Given the description of an element on the screen output the (x, y) to click on. 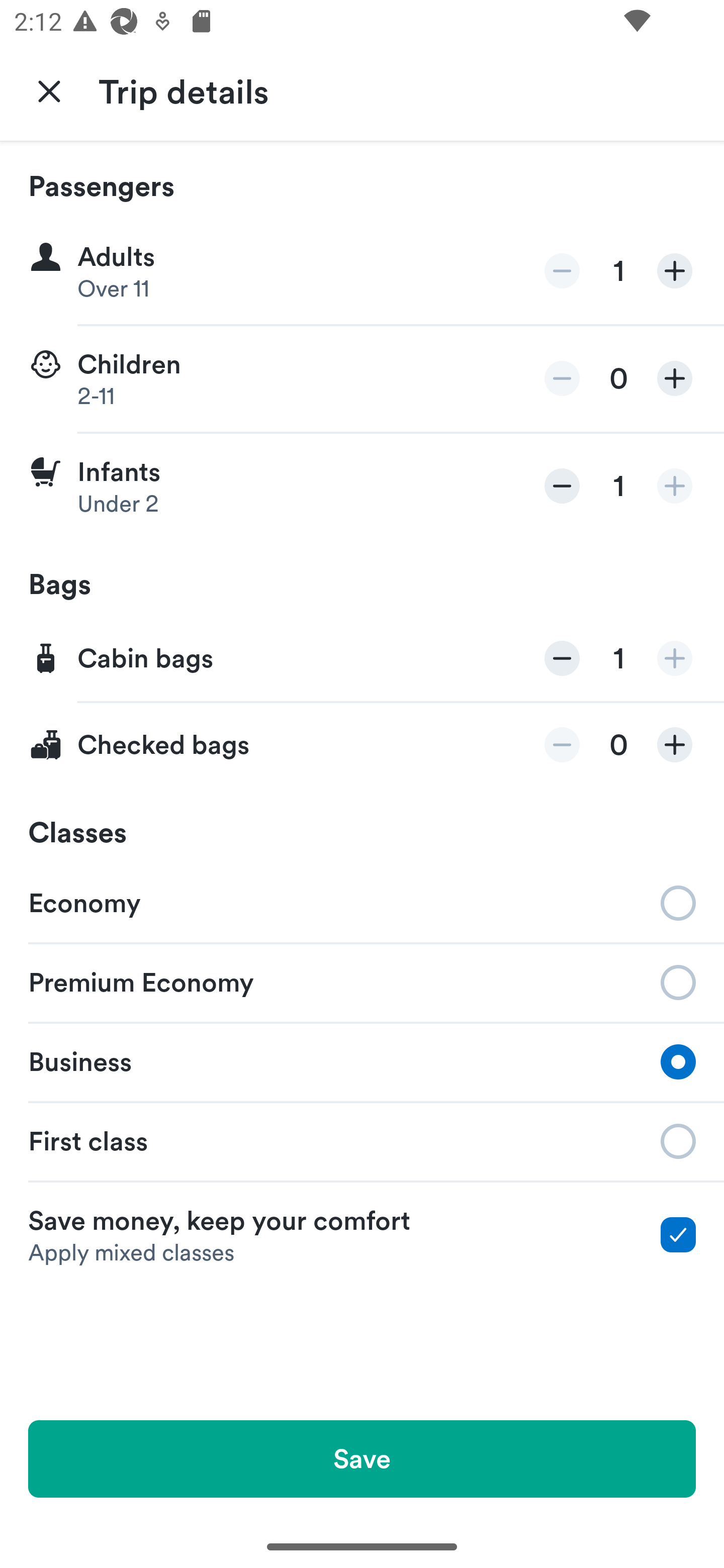
Navigate up (49, 90)
Remove 1 Add Adults Over 11 (362, 271)
Remove (561, 270)
Add (674, 270)
Remove 0 Add Children 2-11 (362, 379)
Remove (561, 377)
Add (674, 377)
Remove 1 Add Infants Under 2 (362, 485)
Remove (561, 485)
Add (674, 485)
Remove 1 Add Cabin bags (362, 659)
Remove (561, 658)
Add (674, 658)
Remove 0 Add Checked bags (362, 744)
Remove (561, 744)
Add (674, 744)
Economy (362, 901)
Premium Economy (362, 980)
First class (362, 1141)
Save (361, 1458)
